Given the description of an element on the screen output the (x, y) to click on. 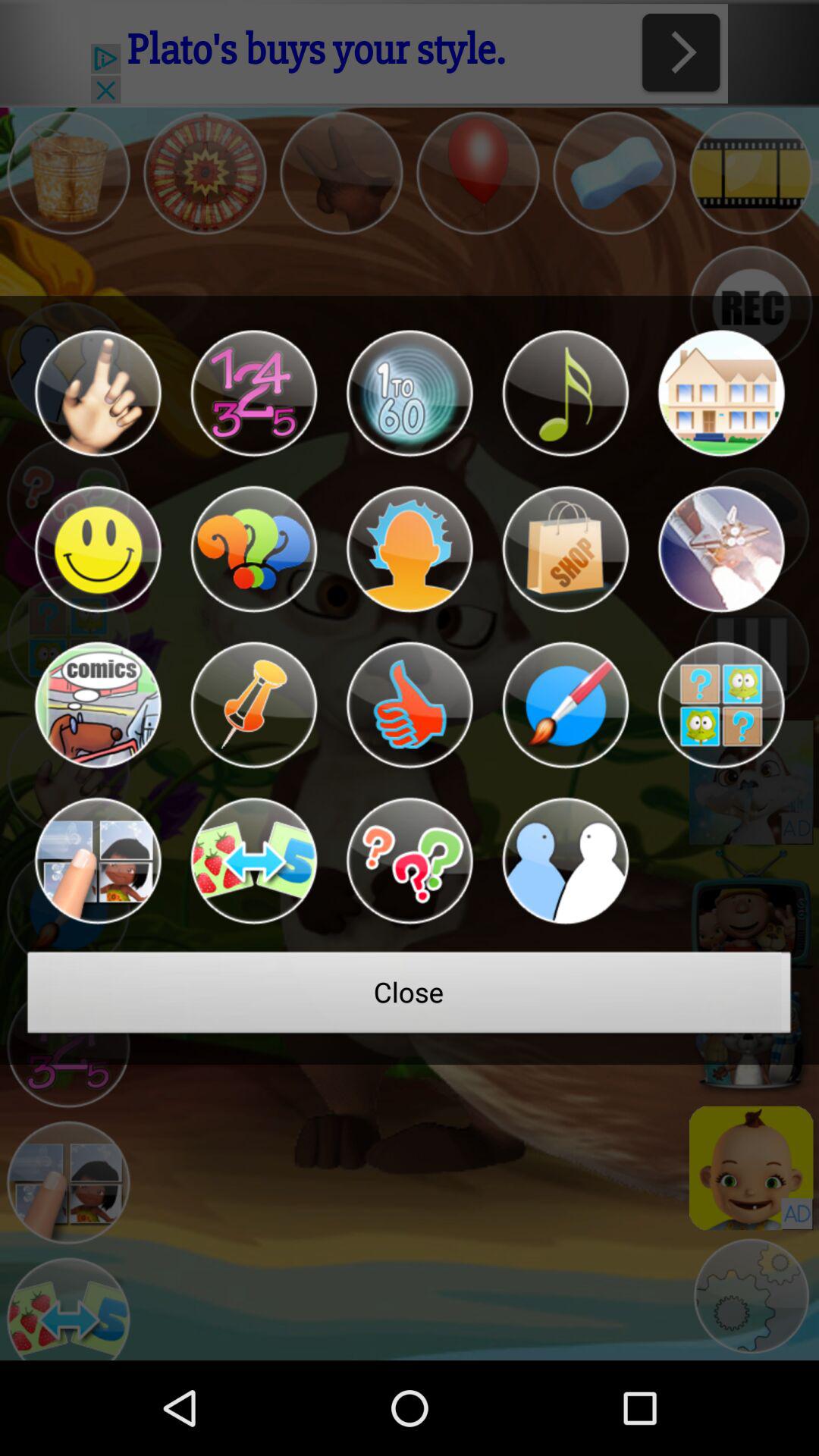
launch the close at the bottom (409, 996)
